Given the description of an element on the screen output the (x, y) to click on. 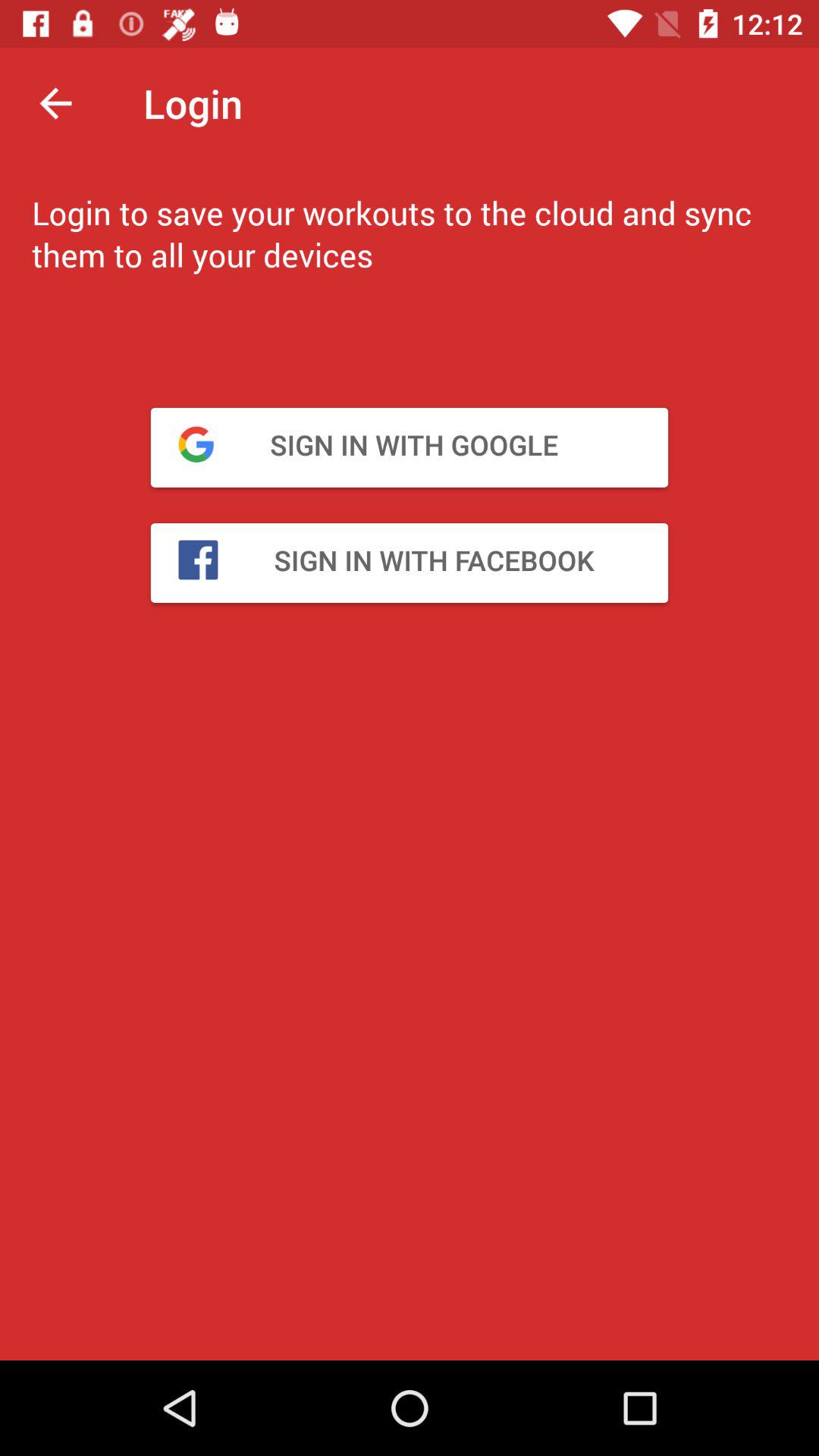
select icon above login to save item (55, 103)
